Given the description of an element on the screen output the (x, y) to click on. 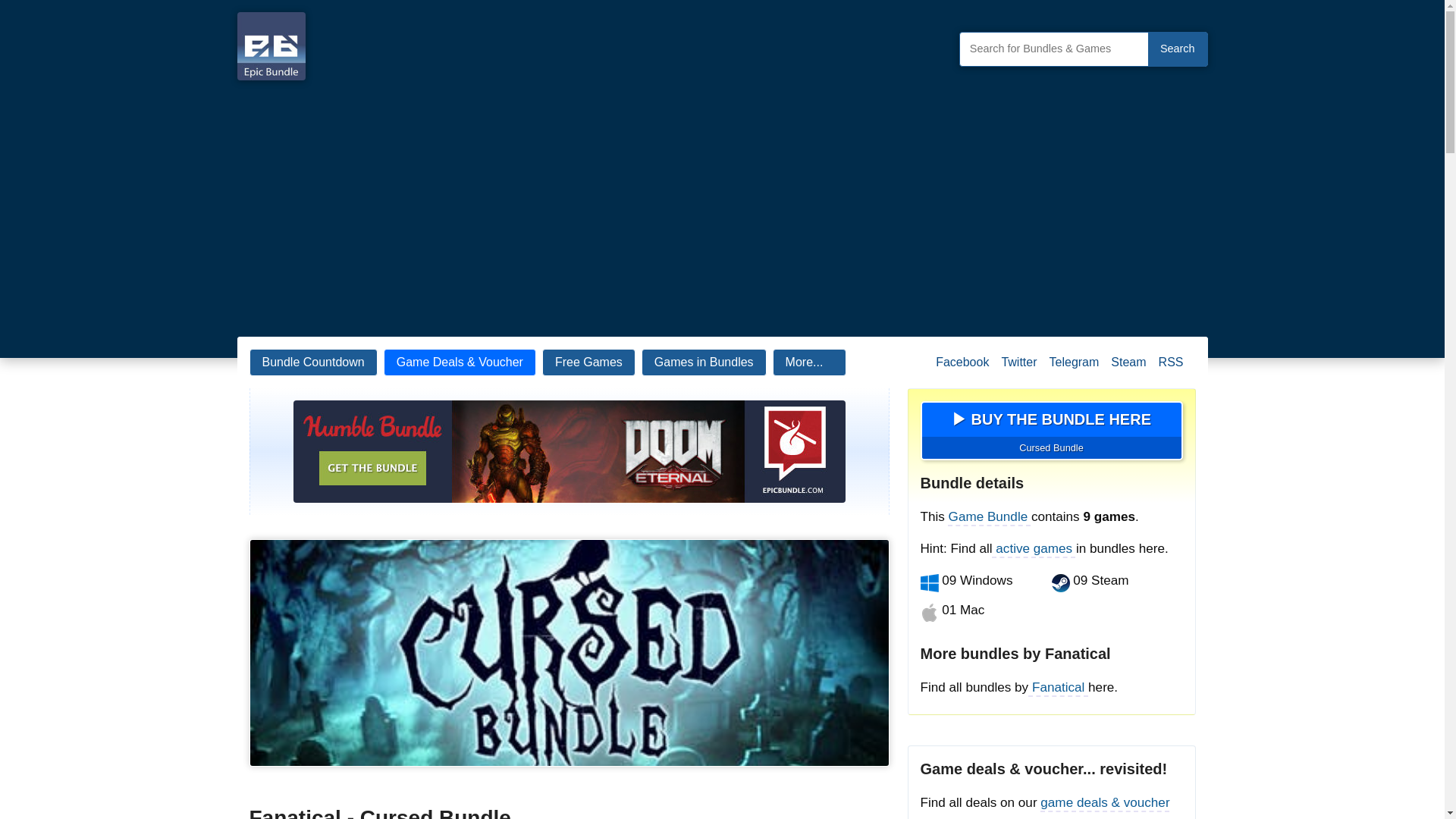
RSS (1171, 368)
Show all active games in bundles (1033, 548)
Search (1177, 49)
Free Games (587, 361)
Steam (1128, 368)
Search (1177, 49)
Twitter (1018, 368)
Games in Bundles (704, 361)
Telegram (1074, 368)
Facebook (962, 368)
More... (810, 361)
Bundle Countdown (312, 361)
